Given the description of an element on the screen output the (x, y) to click on. 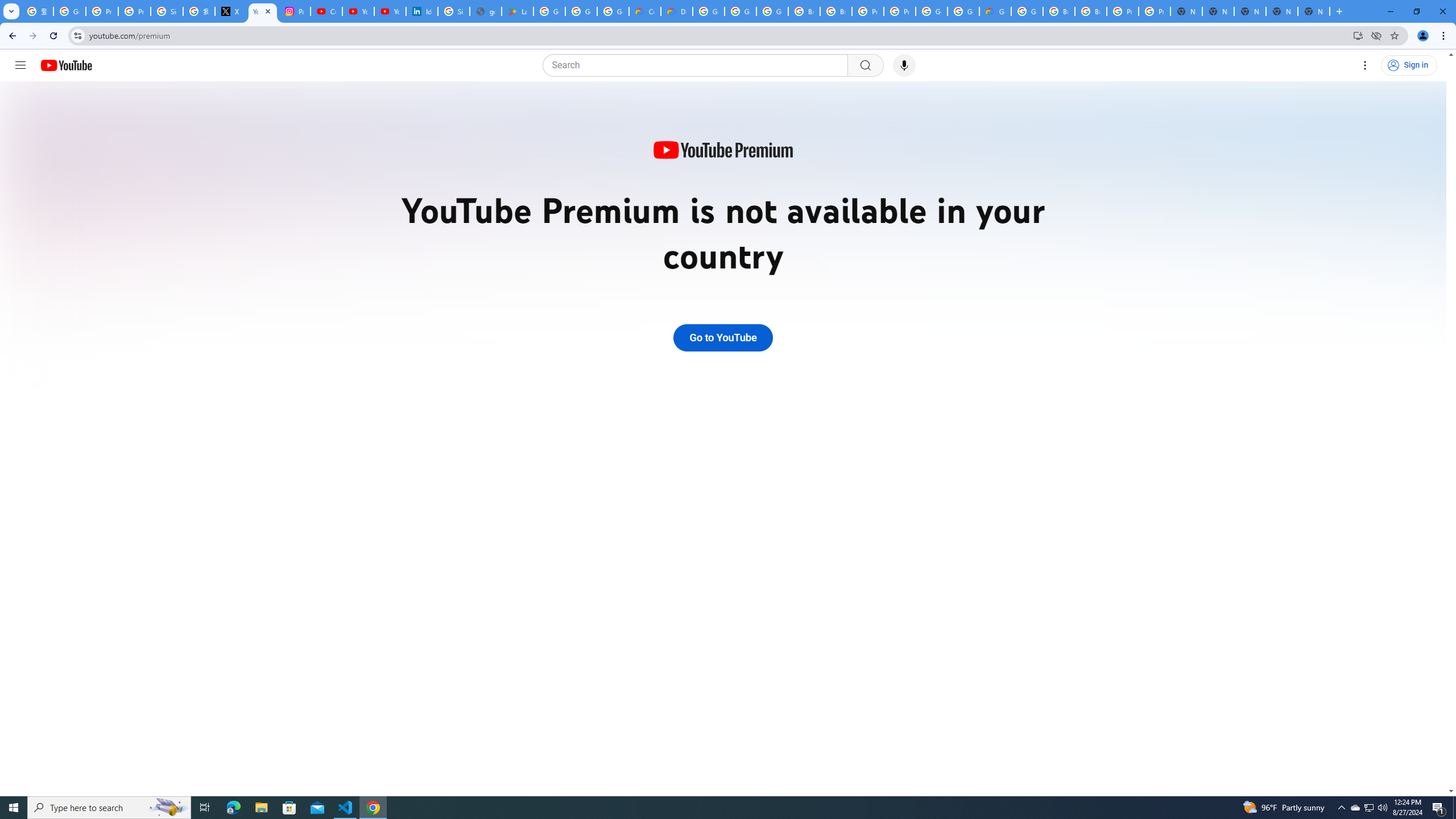
YouTube Premium - YouTube (262, 11)
Google Cloud Platform (1027, 11)
Browse Chrome as a guest - Computer - Google Chrome Help (1059, 11)
Customer Care | Google Cloud (644, 11)
Privacy Help Center - Policies Help (101, 11)
Go to YouTube (722, 337)
